Given the description of an element on the screen output the (x, y) to click on. 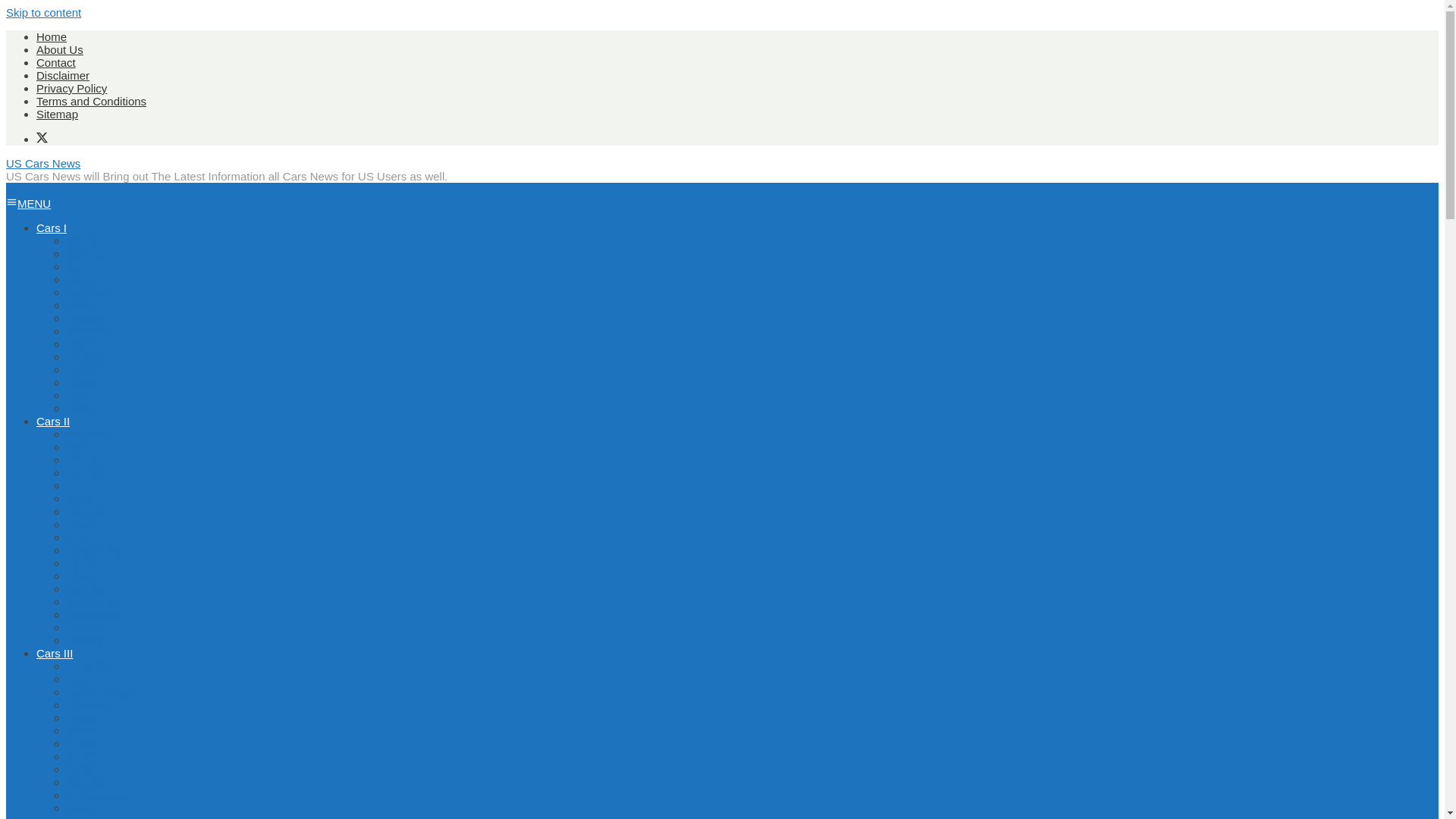
Sitemap (57, 113)
Isuzu (80, 498)
Ferrari (83, 382)
Dodge (83, 369)
Skip to content (43, 11)
Disclaimer (62, 74)
Bollinger (88, 291)
Chrysler (87, 356)
US Cars News (42, 163)
Home (51, 36)
